Given the description of an element on the screen output the (x, y) to click on. 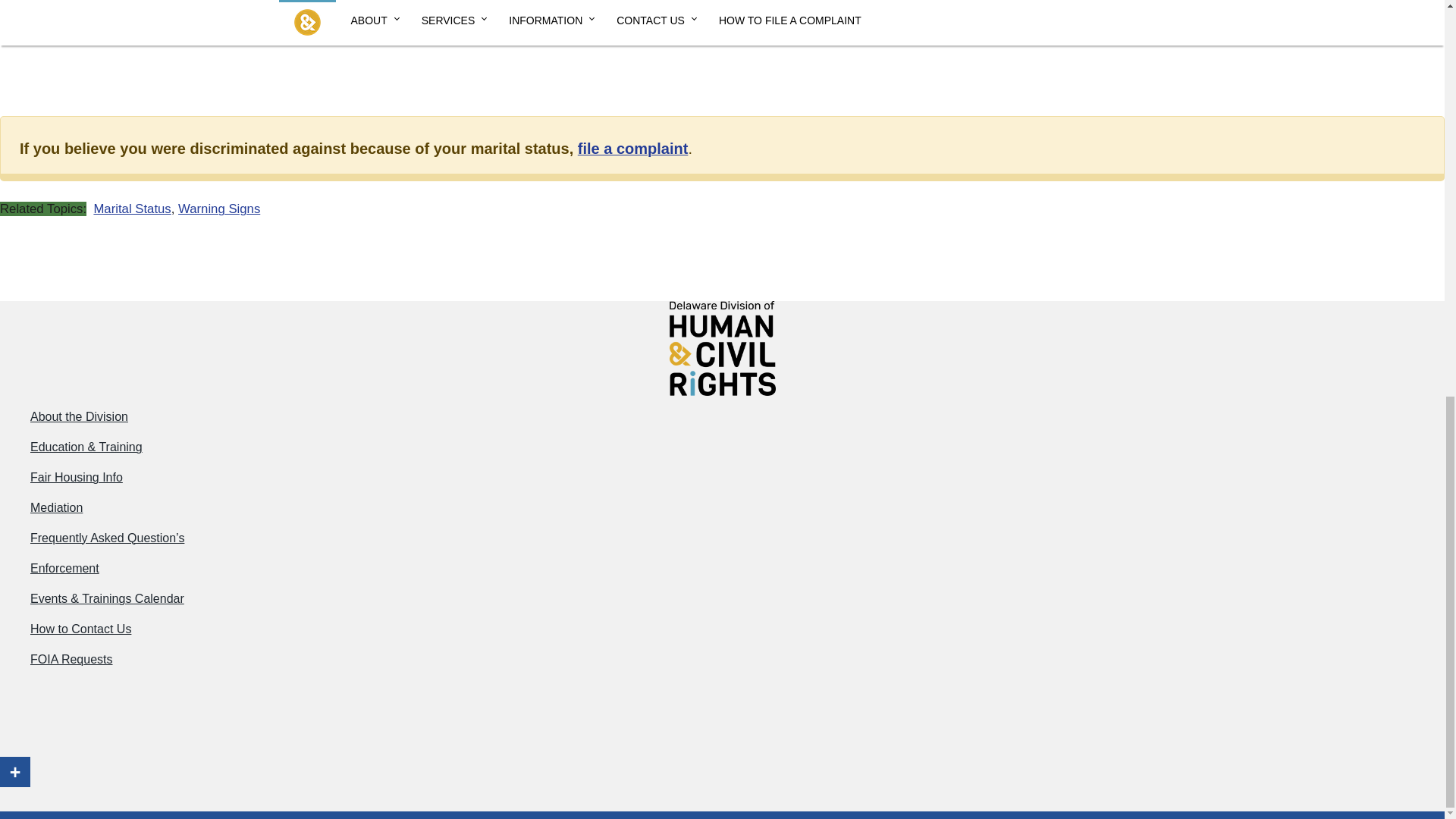
file a complaint (633, 148)
Marital Status (131, 208)
Warning Signs (218, 208)
